Given the description of an element on the screen output the (x, y) to click on. 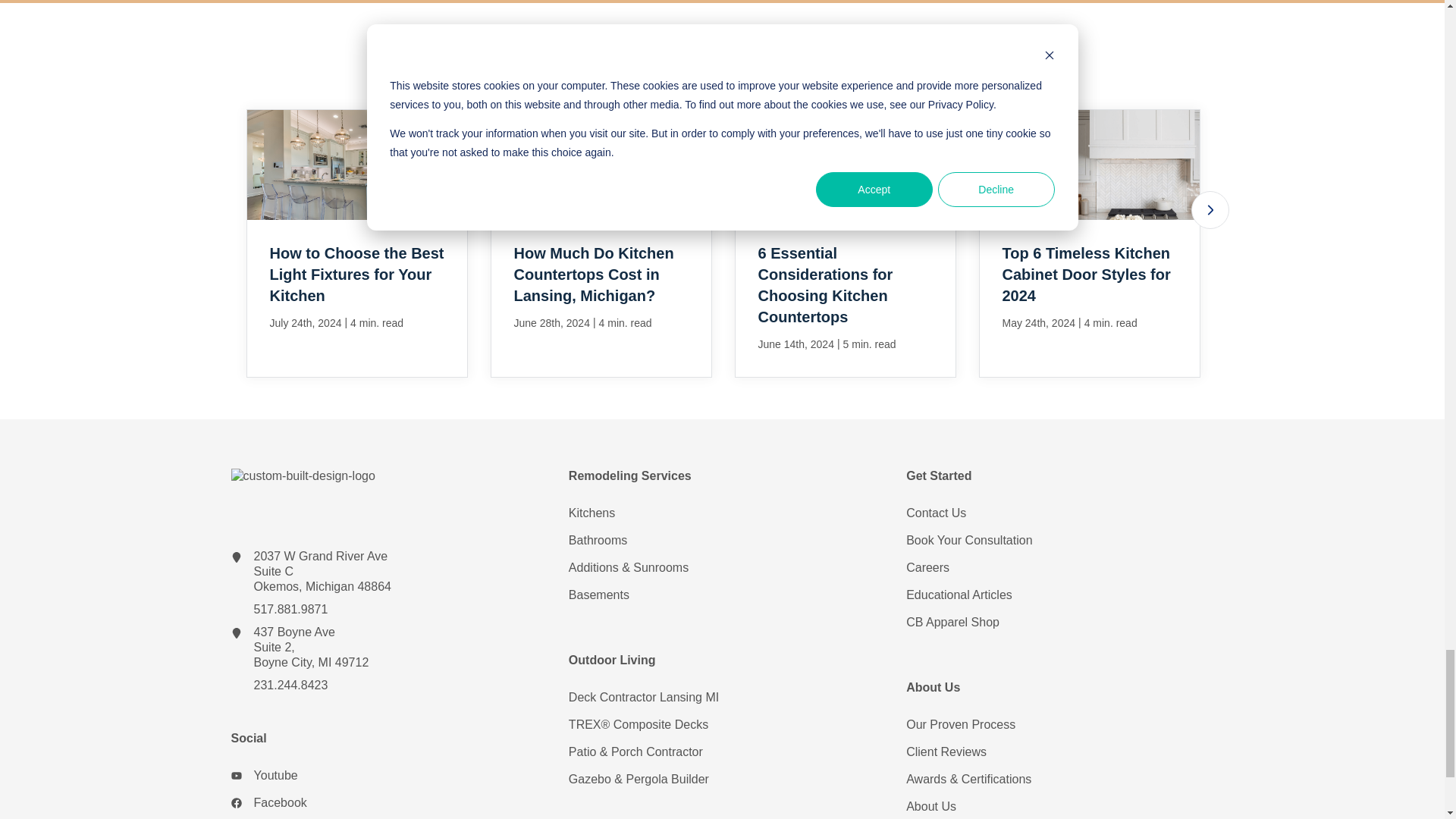
How to Choose the Best Light Fixtures for Your Kitchen (356, 242)
Top 6 Timeless Kitchen Cabinet Door Styles for 2024 (1088, 242)
How Much Do Kitchen Countertops Cost in Lansing, Michigan? (600, 242)
6 Essential Considerations for Choosing Kitchen Countertops (844, 242)
